Given the description of an element on the screen output the (x, y) to click on. 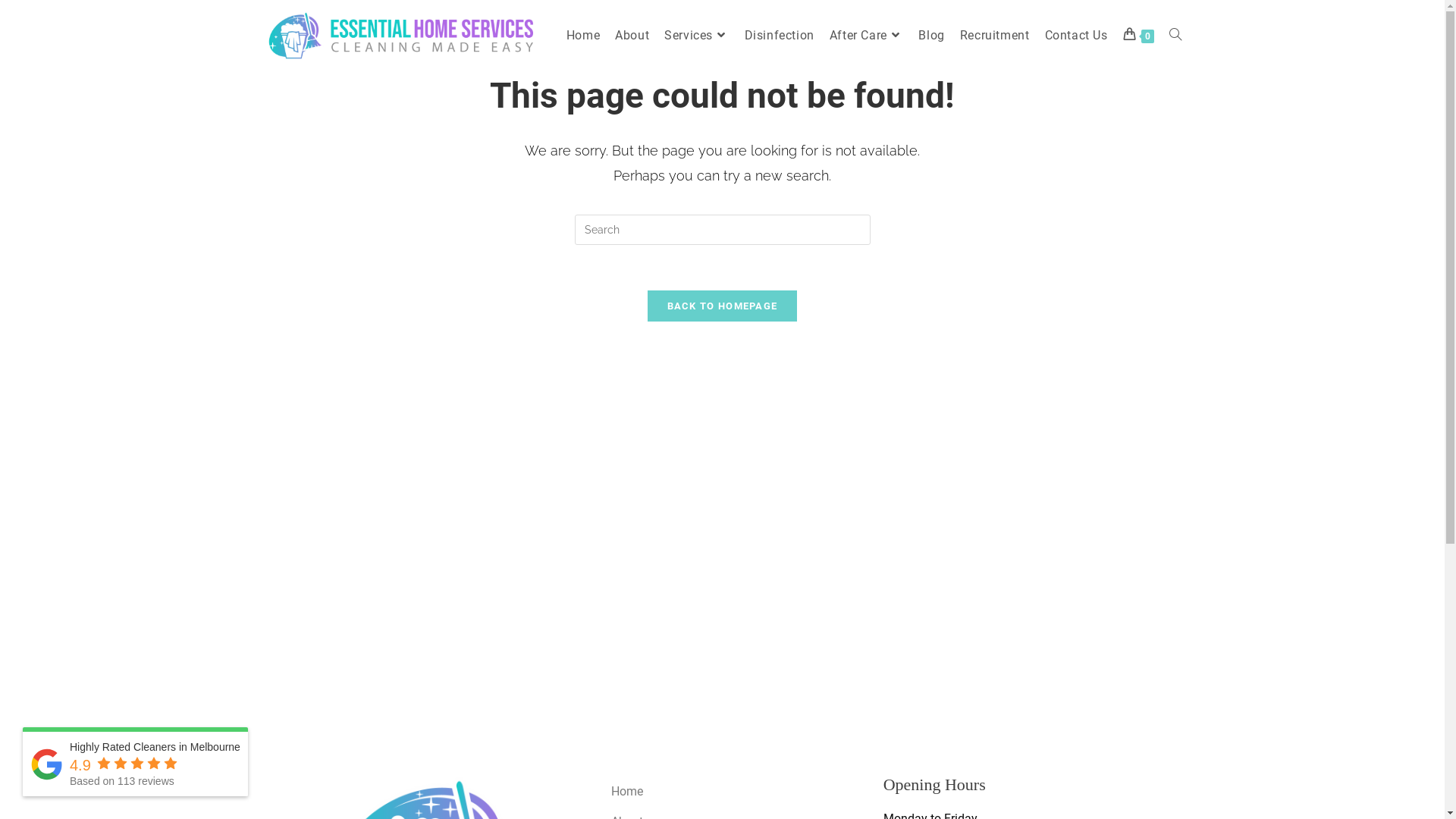
0 Element type: text (1137, 35)
BACK TO HOMEPAGE Element type: text (722, 305)
Services Element type: text (696, 35)
Disinfection Element type: text (779, 35)
Blog Element type: text (930, 35)
Recruitment Element type: text (994, 35)
Home Element type: text (739, 791)
Home Element type: text (582, 35)
About Element type: text (631, 35)
Contact Us Element type: text (1076, 35)
After Care Element type: text (866, 35)
